Given the description of an element on the screen output the (x, y) to click on. 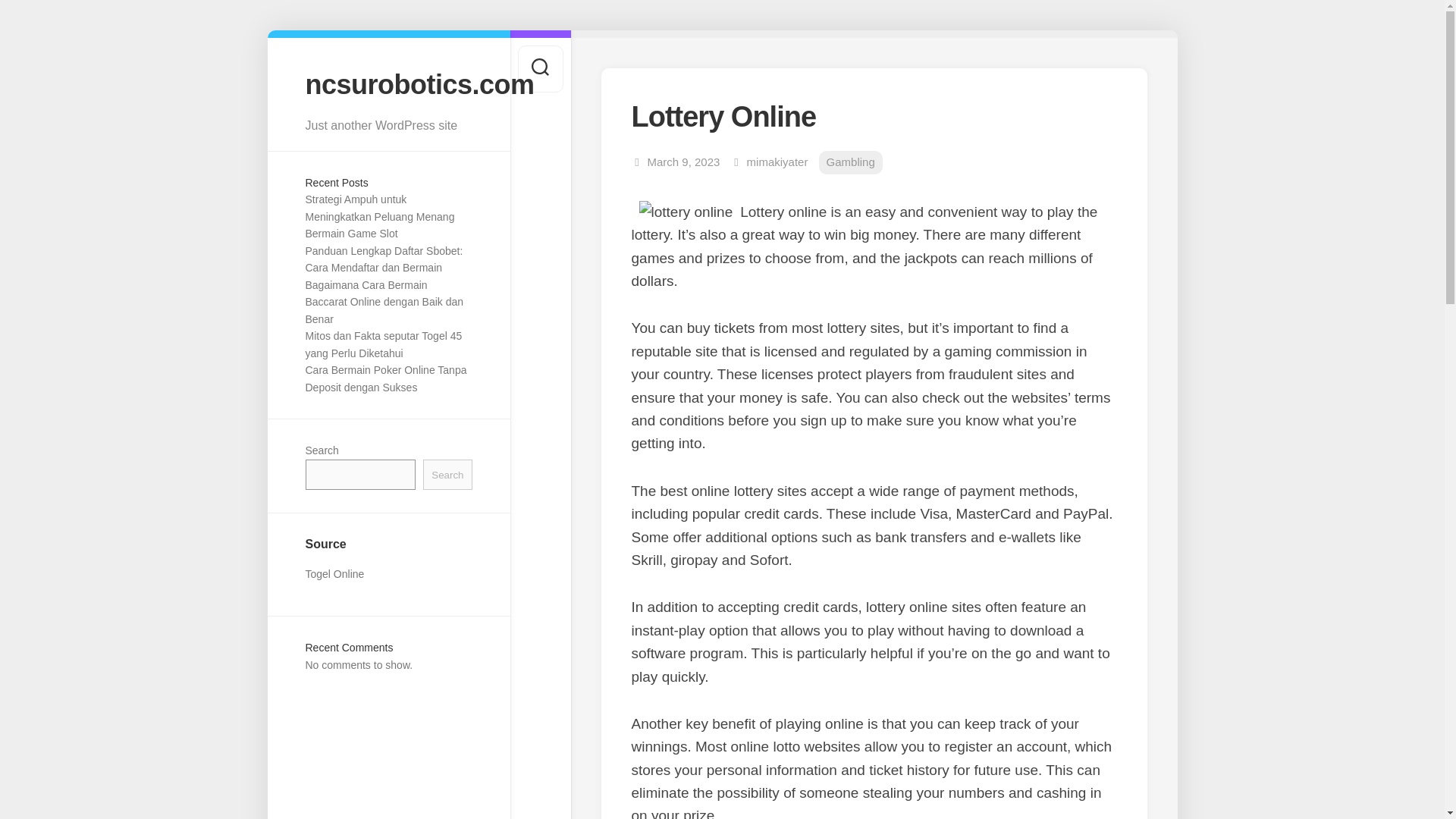
Gambling (850, 162)
Panduan Lengkap Daftar Sbobet: Cara Mendaftar dan Bermain (383, 259)
Search (447, 474)
mimakiyater (777, 161)
Posts by mimakiyater (777, 161)
Bagaimana Cara Bermain Baccarat Online dengan Baik dan Benar (383, 302)
Mitos dan Fakta seputar Togel 45 yang Perlu Diketahui (382, 344)
Cara Bermain Poker Online Tanpa Deposit dengan Sukses (384, 378)
Togel Online (334, 573)
ncsurobotics.com (387, 83)
